Given the description of an element on the screen output the (x, y) to click on. 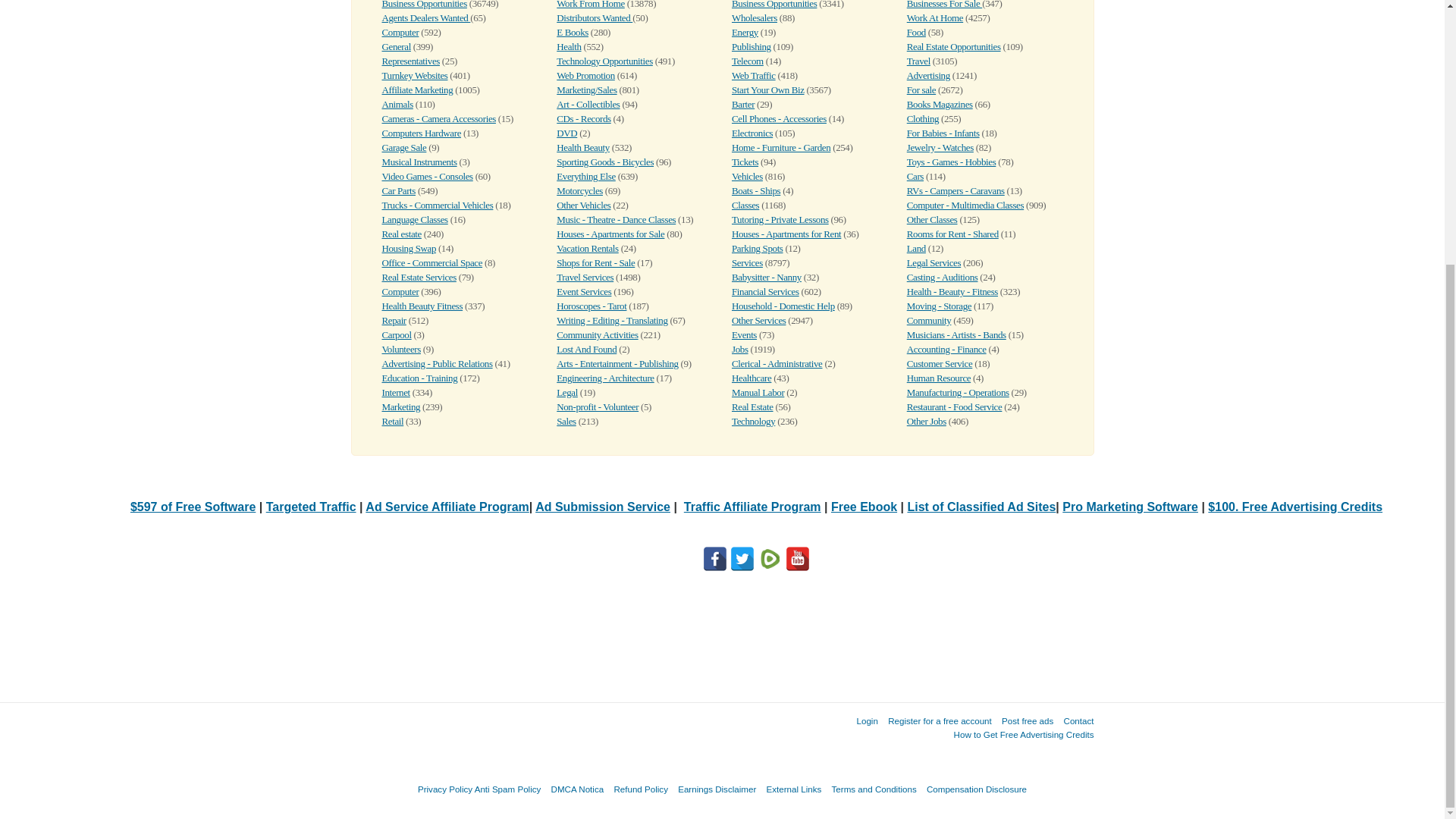
Affiliate Marketing (416, 89)
For sale (921, 89)
Representatives (410, 60)
Distributors Wanted (593, 17)
Computer (400, 31)
Turnkey Websites (414, 75)
Food (916, 31)
E Books (572, 31)
Books Magazines (939, 103)
Web Traffic (754, 75)
Real Estate Opportunities (954, 46)
Animals (397, 103)
Barter (743, 103)
Work From Home (590, 4)
Work At Home (934, 17)
